Given the description of an element on the screen output the (x, y) to click on. 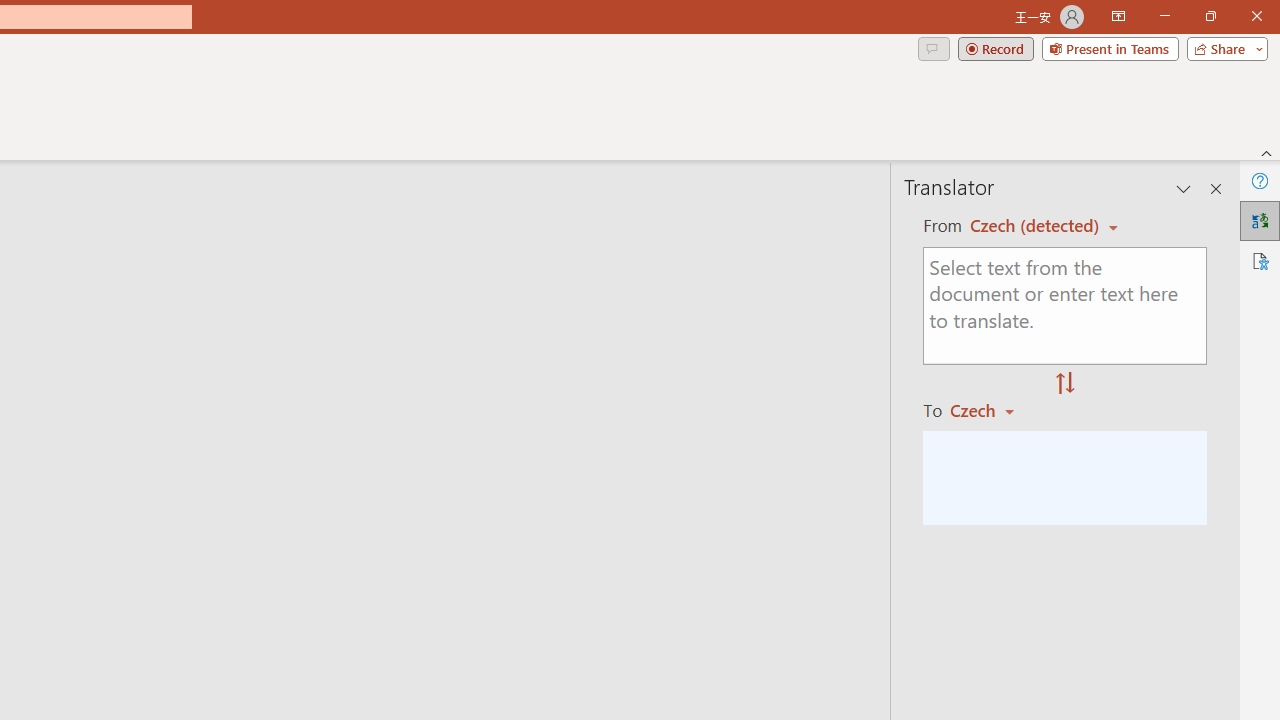
Swap "from" and "to" languages. (1065, 383)
Czech (detected) (1037, 225)
Czech (991, 409)
